Given the description of an element on the screen output the (x, y) to click on. 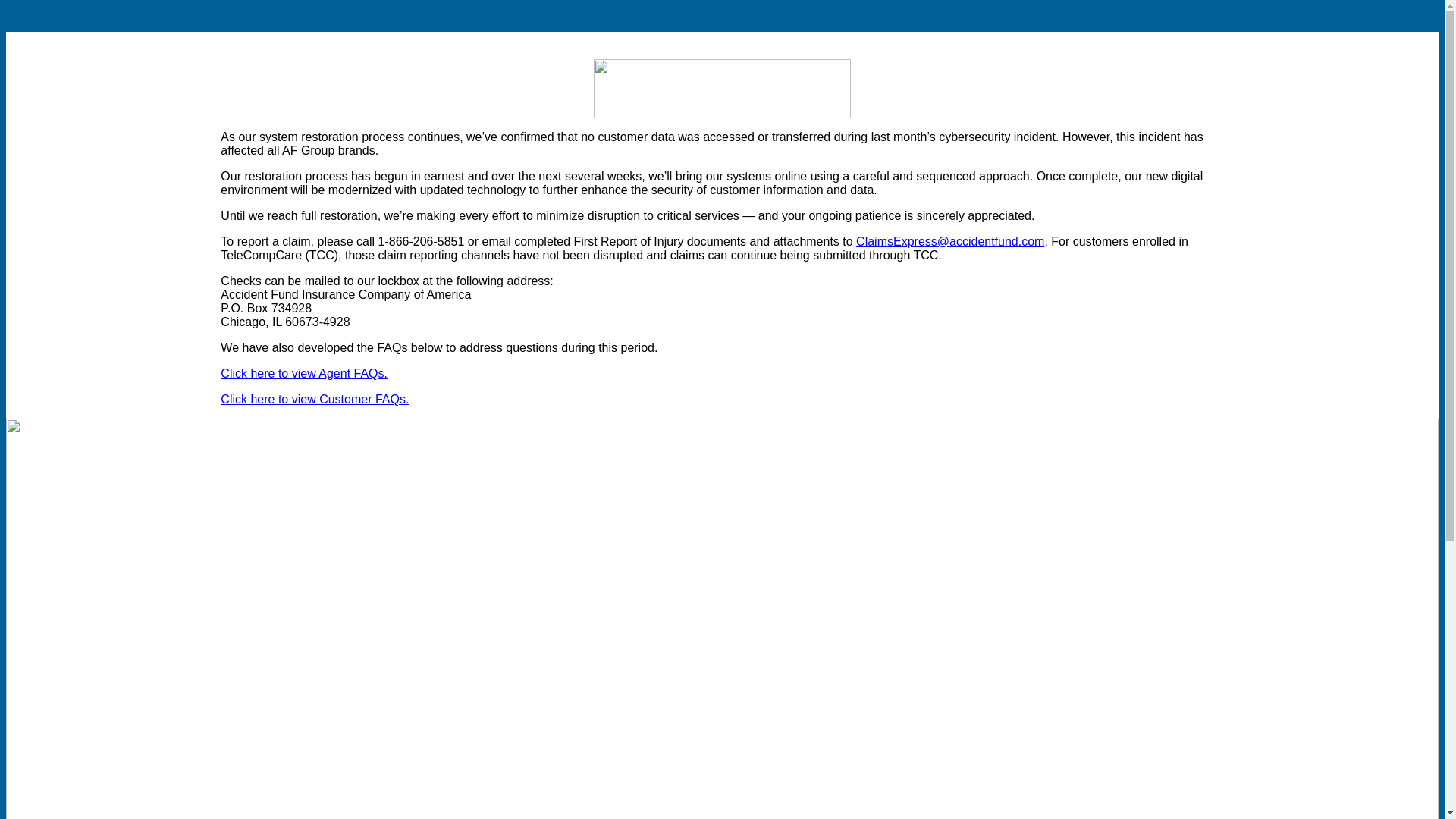
Click here to view Customer FAQs. (315, 399)
Click here to view Agent FAQs. (304, 373)
